Given the description of an element on the screen output the (x, y) to click on. 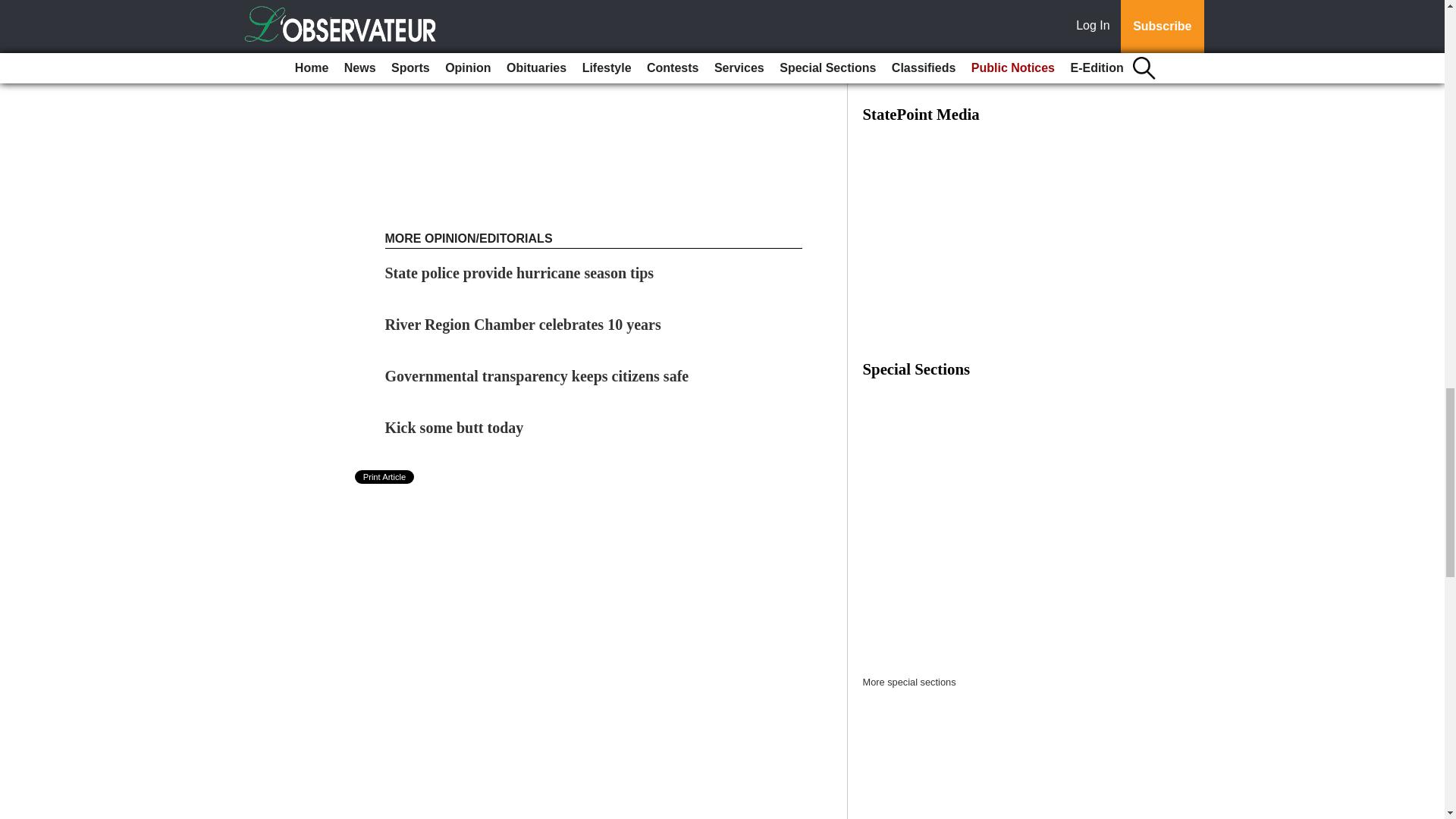
Print Article (384, 477)
Kick some butt today (454, 427)
More special sections (909, 681)
River Region Chamber celebrates 10 years (523, 324)
State police provide hurricane season tips (519, 272)
Governmental transparency keeps citizens safe (536, 375)
State police provide hurricane season tips (519, 272)
Kick some butt today (454, 427)
River Region Chamber celebrates 10 years (523, 324)
Governmental transparency keeps citizens safe (536, 375)
